Given the description of an element on the screen output the (x, y) to click on. 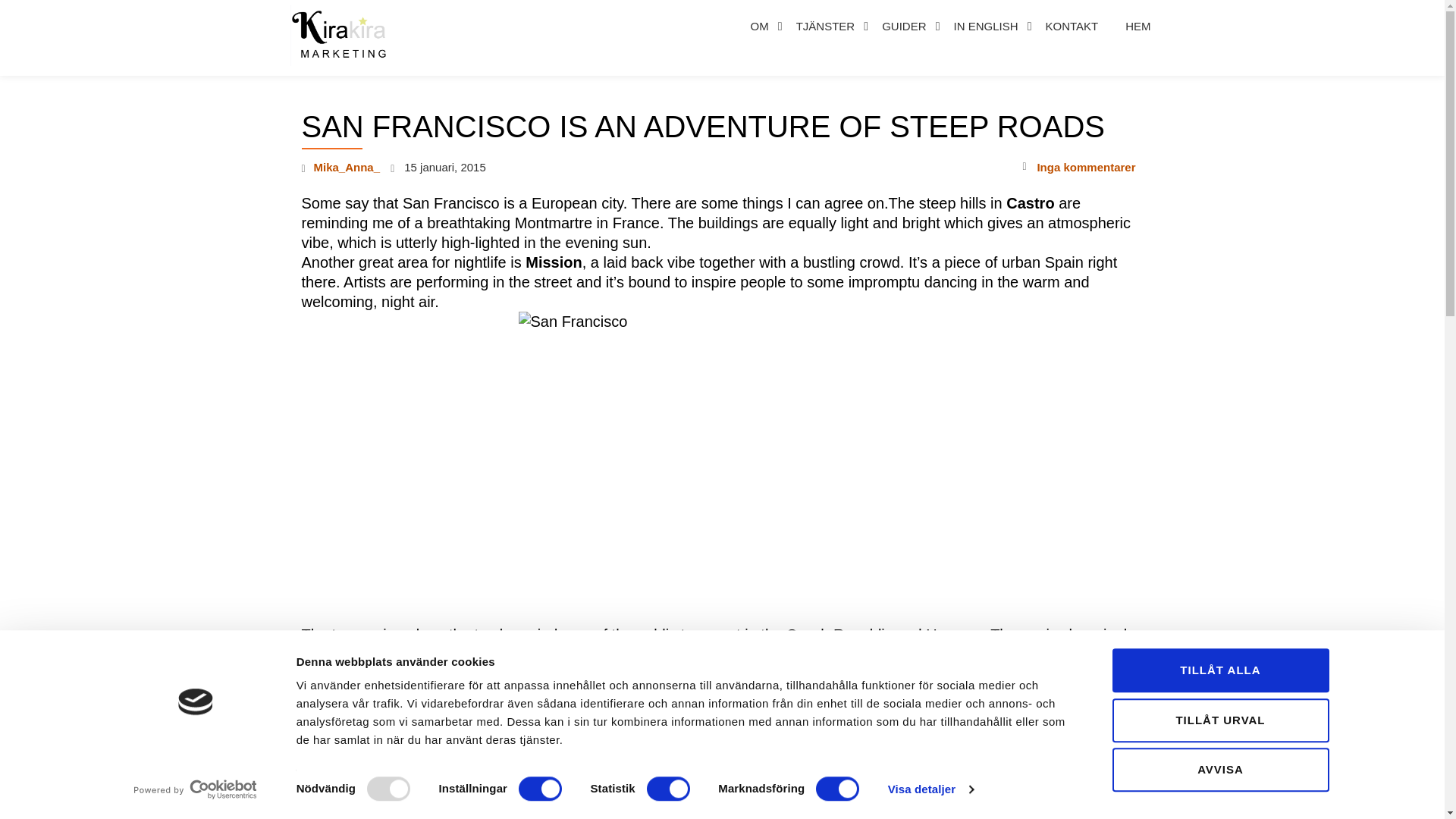
Visa detaljer (931, 789)
Kirakira Marketing (344, 38)
